Given the description of an element on the screen output the (x, y) to click on. 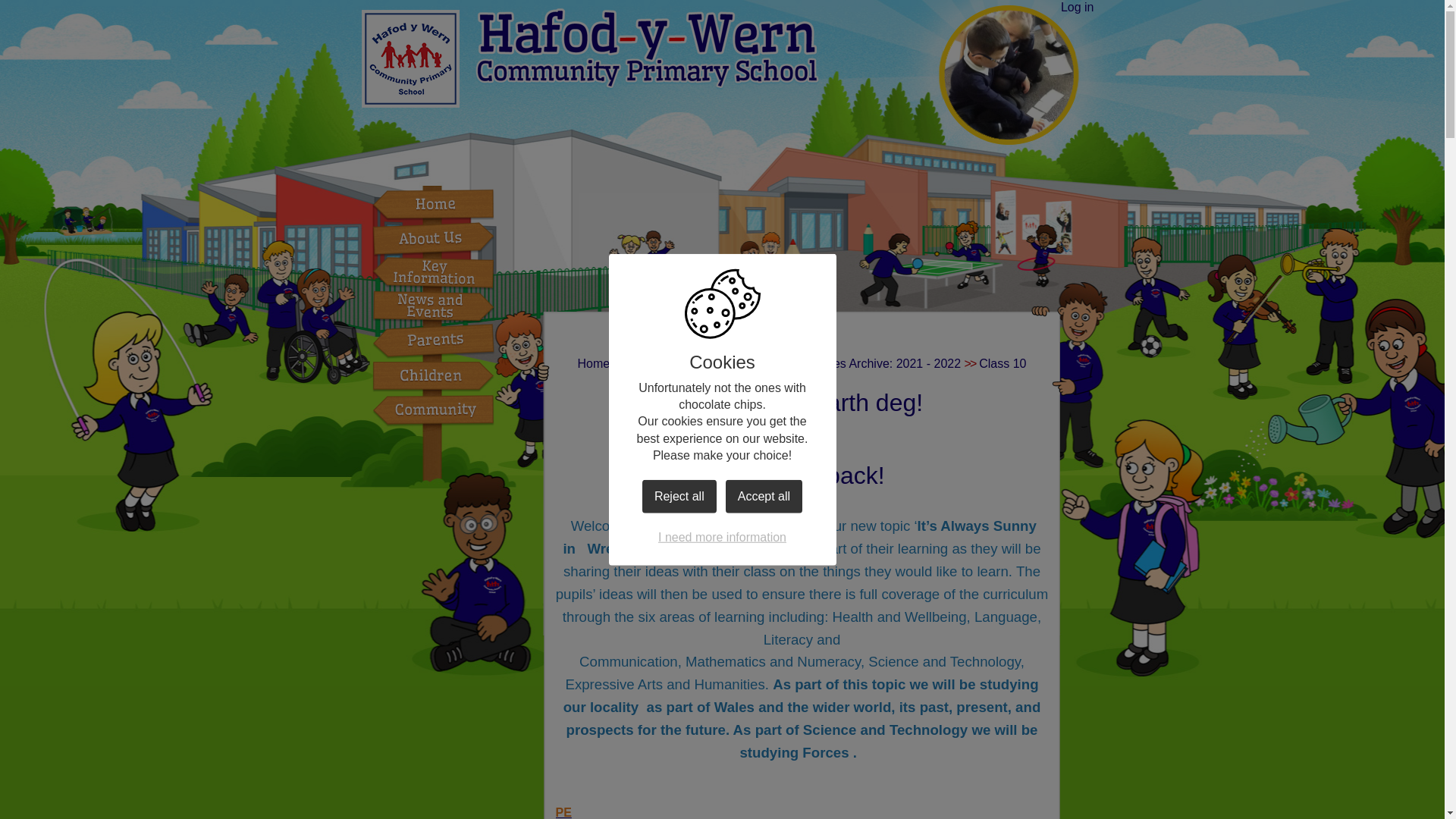
Home Page (589, 58)
Class Pages (725, 363)
Children (649, 363)
Class 10 (1002, 363)
Log in (1077, 7)
Home (594, 363)
Class Pages Archive: 2021 - 2022 (868, 363)
Home Page (589, 58)
